Given the description of an element on the screen output the (x, y) to click on. 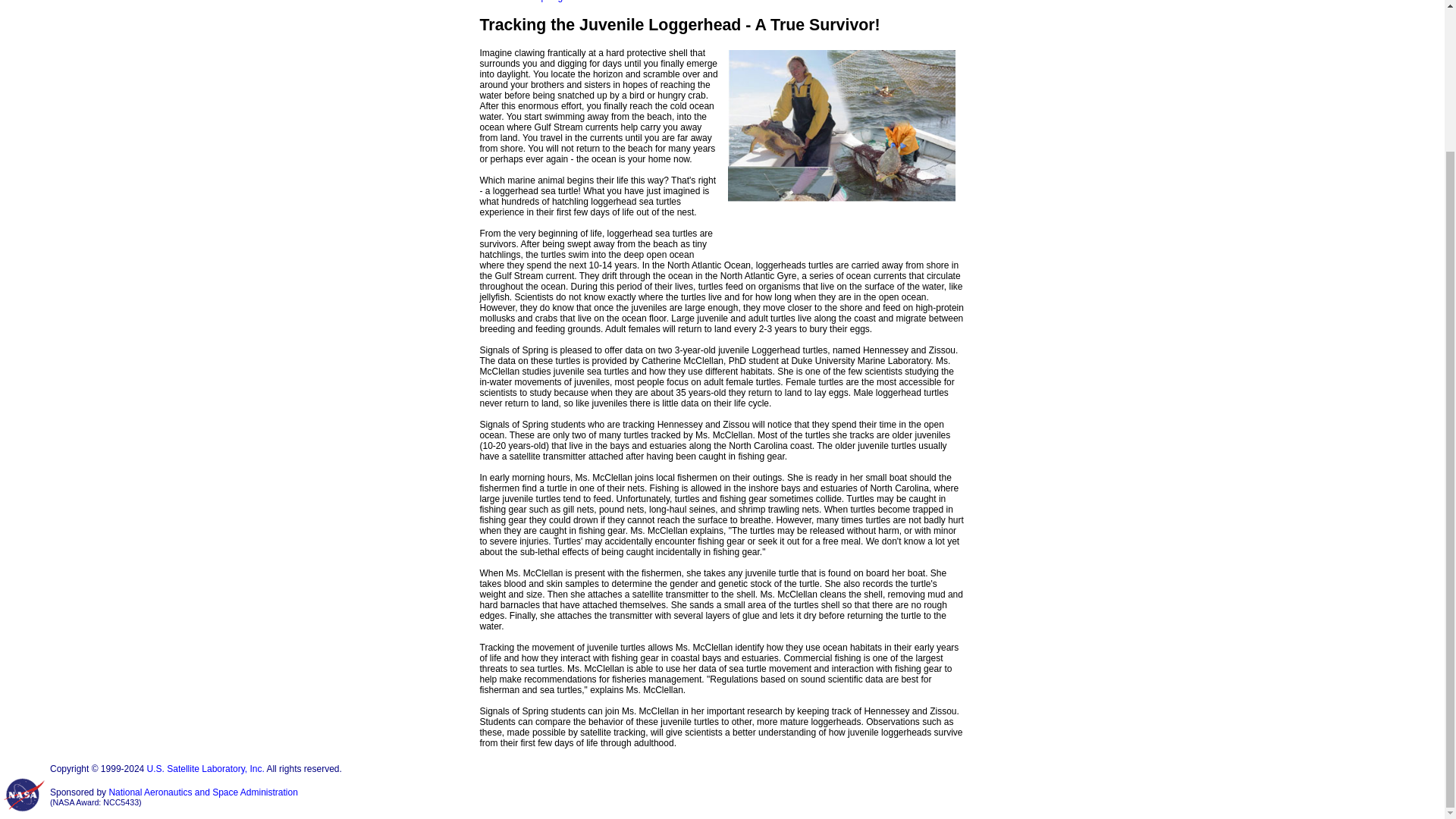
List of "In the Spotlight" Features (545, 1)
National Aeronautics and Space Administration (202, 792)
U.S. Satellite Laboratory, Inc. (205, 768)
